Given the description of an element on the screen output the (x, y) to click on. 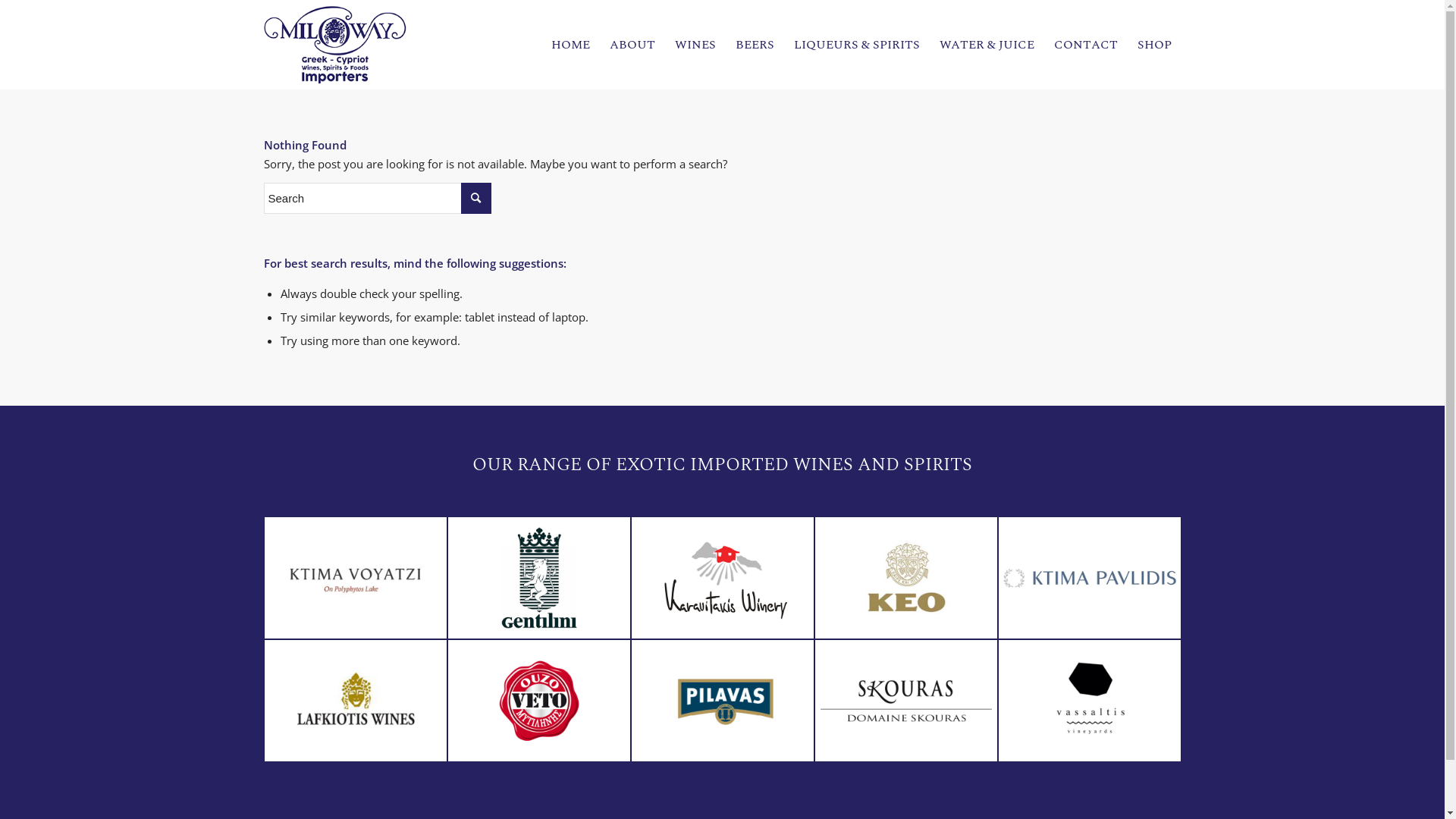
BEERS Element type: text (753, 44)
ABOUT Element type: text (631, 44)
HOME Element type: text (570, 44)
CONTACT Element type: text (1084, 44)
WATER & JUICE Element type: text (986, 44)
LIQUEURS & SPIRITS Element type: text (856, 44)
SHOP Element type: text (1153, 44)
WINES Element type: text (694, 44)
